Given the description of an element on the screen output the (x, y) to click on. 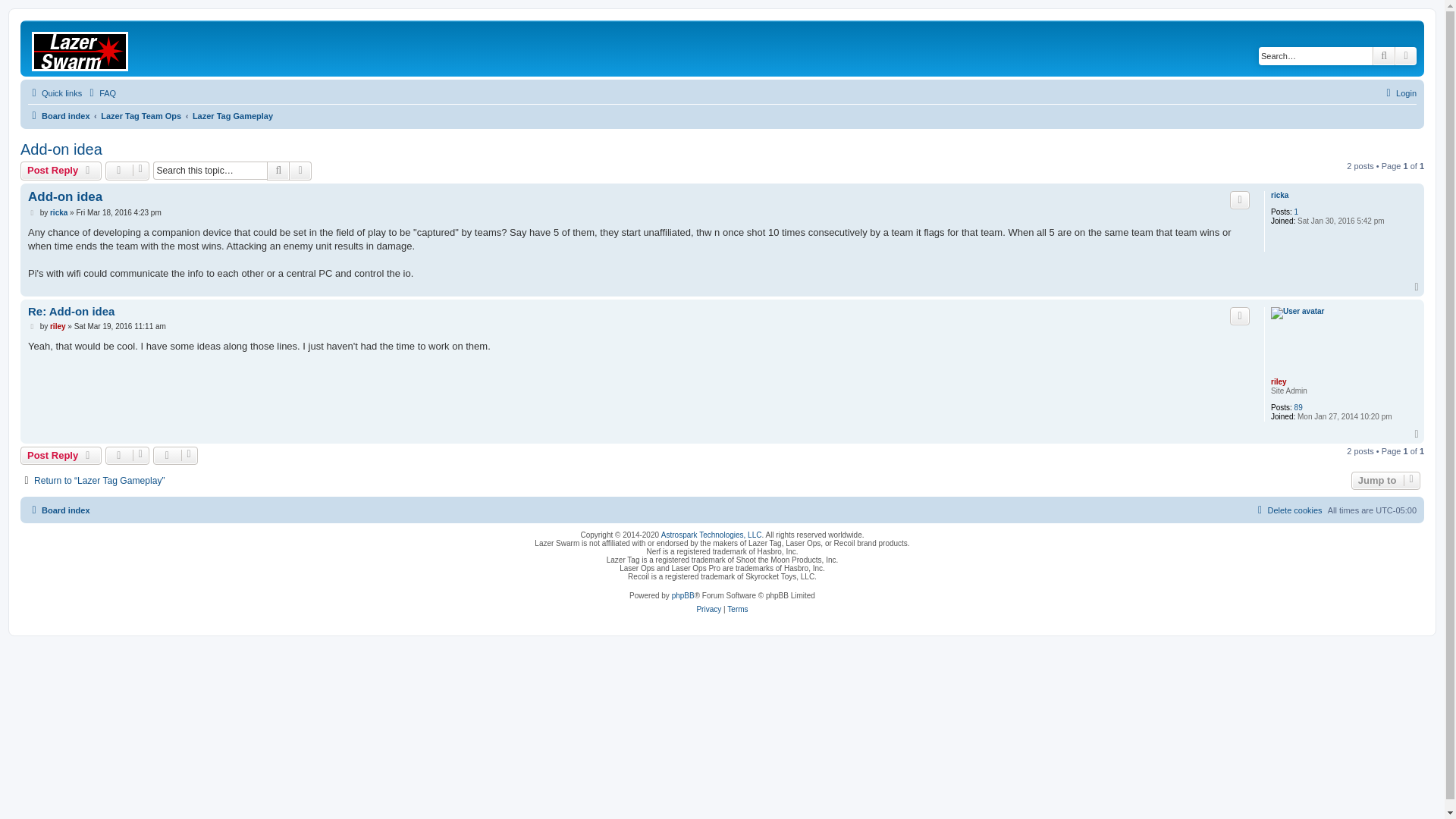
Top (1416, 286)
Re: Add-on idea (71, 311)
Login (1398, 93)
Advanced search (300, 170)
Search (1383, 55)
Quick links (54, 93)
89 (1298, 407)
Login (1398, 93)
ricka (57, 212)
Advanced search (300, 170)
